Given the description of an element on the screen output the (x, y) to click on. 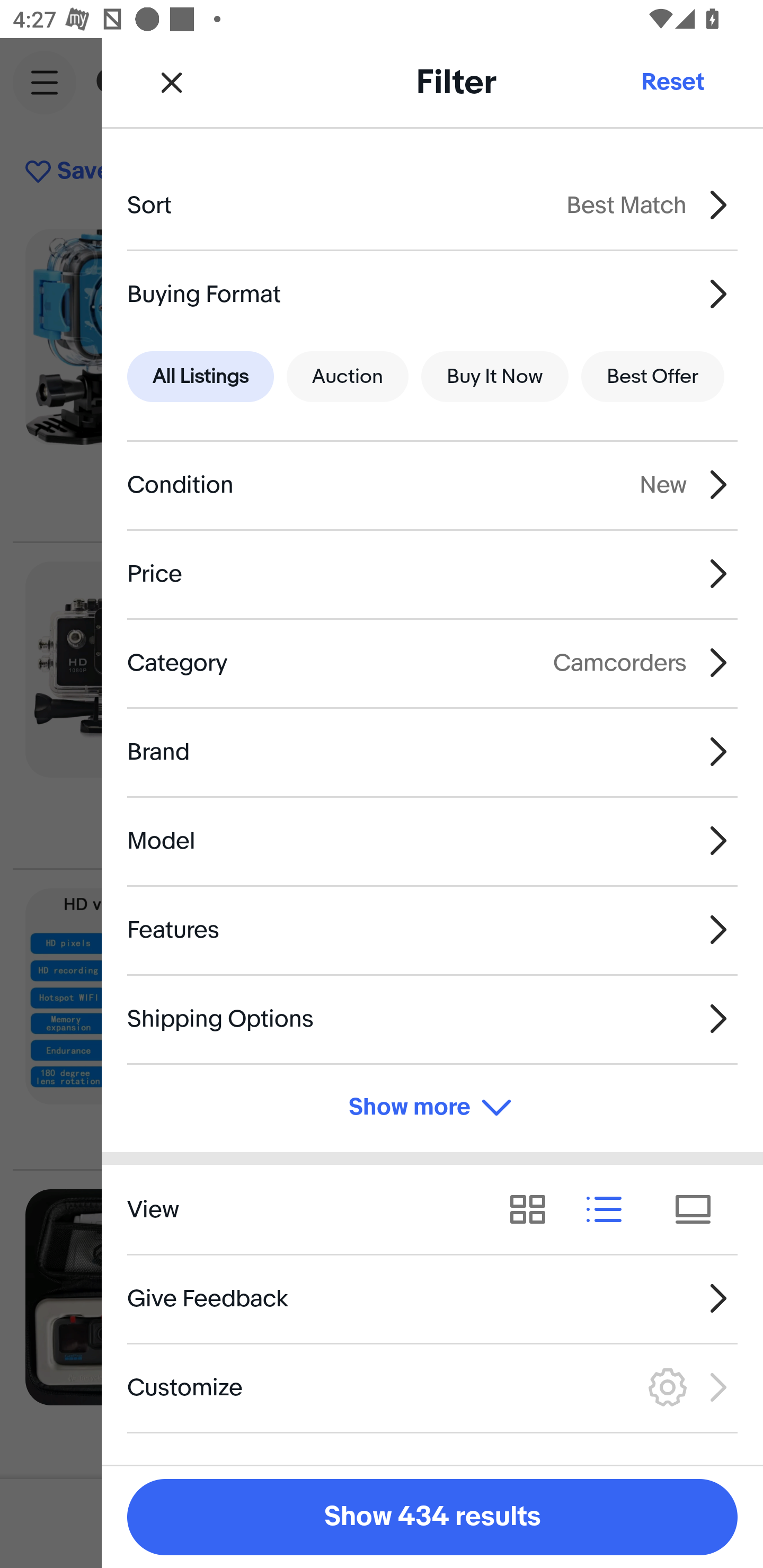
Close Filter (171, 81)
Reset (672, 81)
Buying Format (432, 293)
All Listings (200, 376)
Auction (347, 376)
Buy It Now (494, 376)
Best Offer (652, 376)
Condition New (432, 484)
Price (432, 573)
Category Camcorders (432, 662)
Brand (432, 751)
Model (432, 840)
Features (432, 929)
Shipping Options (432, 1018)
Show more (432, 1107)
View results as grid (533, 1209)
View results as list (610, 1209)
View results as tiles (699, 1209)
Customize (432, 1386)
Show 434 results (432, 1516)
